Given the description of an element on the screen output the (x, y) to click on. 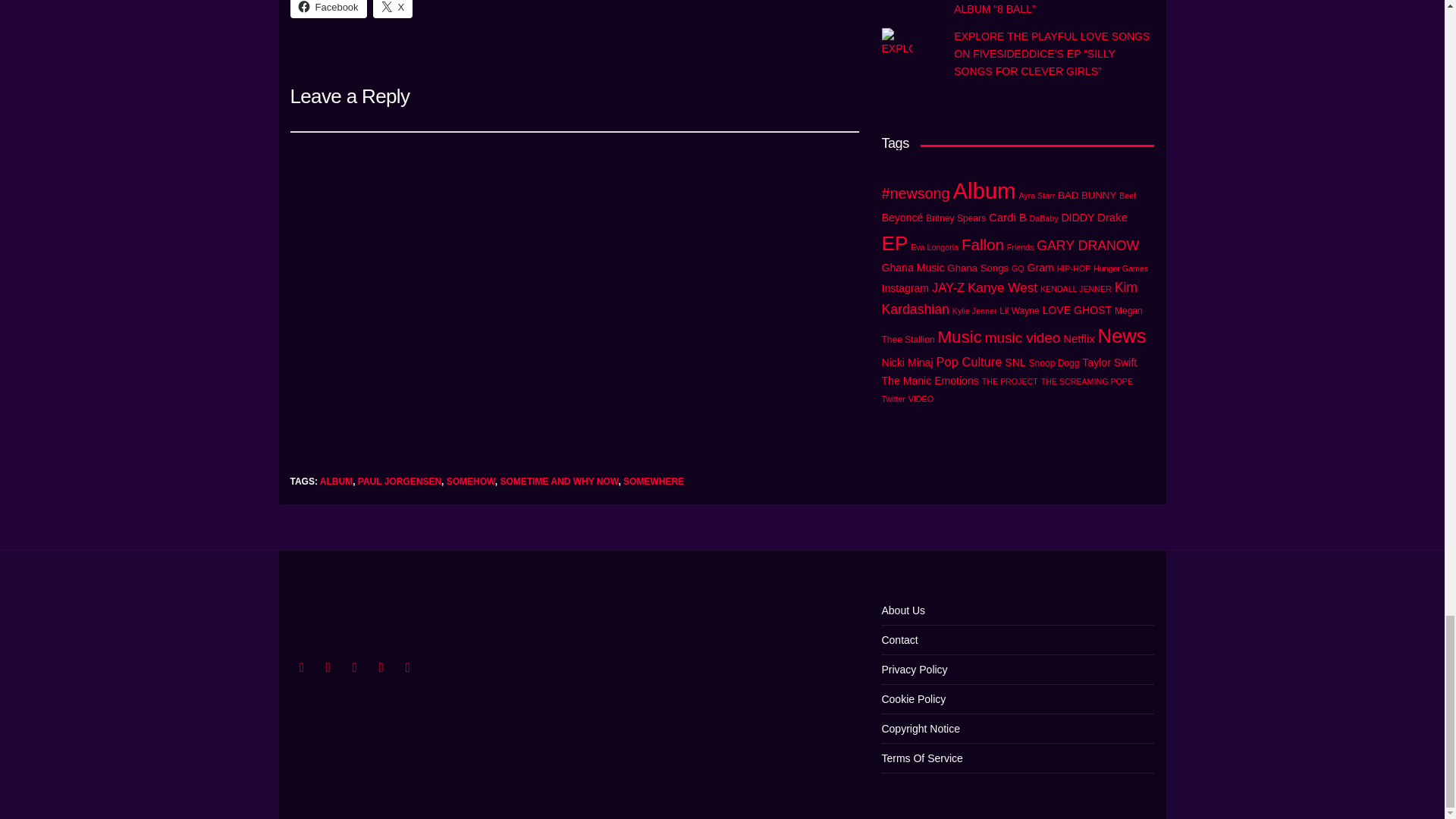
Click to share on X (392, 9)
Click to share on Facebook (327, 9)
